Given the description of an element on the screen output the (x, y) to click on. 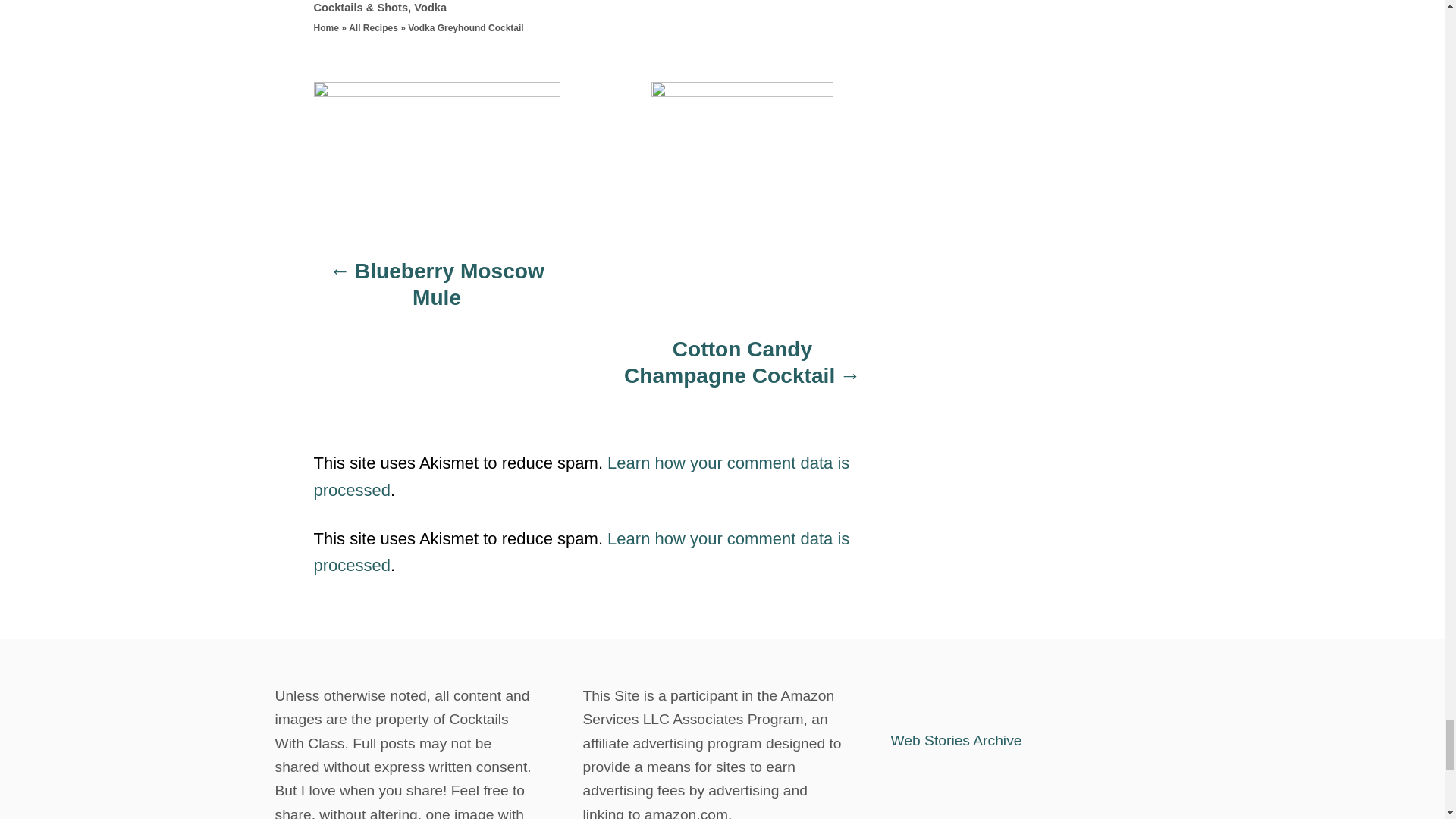
Vodka (429, 7)
Home (326, 27)
All Recipes (373, 27)
